Given the description of an element on the screen output the (x, y) to click on. 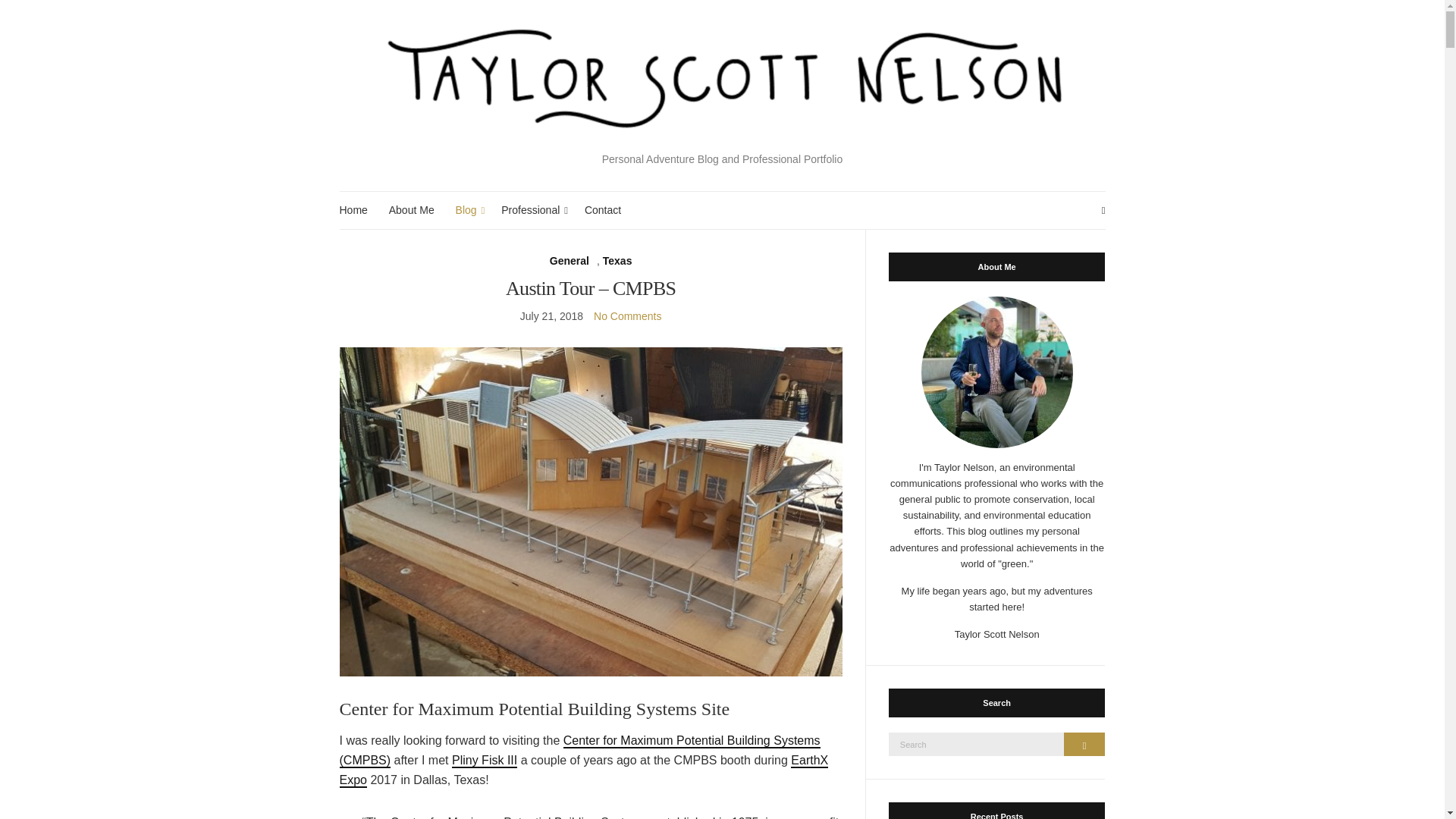
EarthX Expo (583, 770)
No Comments (627, 316)
Professional (531, 210)
About Me (410, 210)
Pliny Fisk III (483, 760)
Contact (603, 210)
Texas (616, 261)
General (569, 261)
Home (353, 210)
Blog (467, 210)
